Given the description of an element on the screen output the (x, y) to click on. 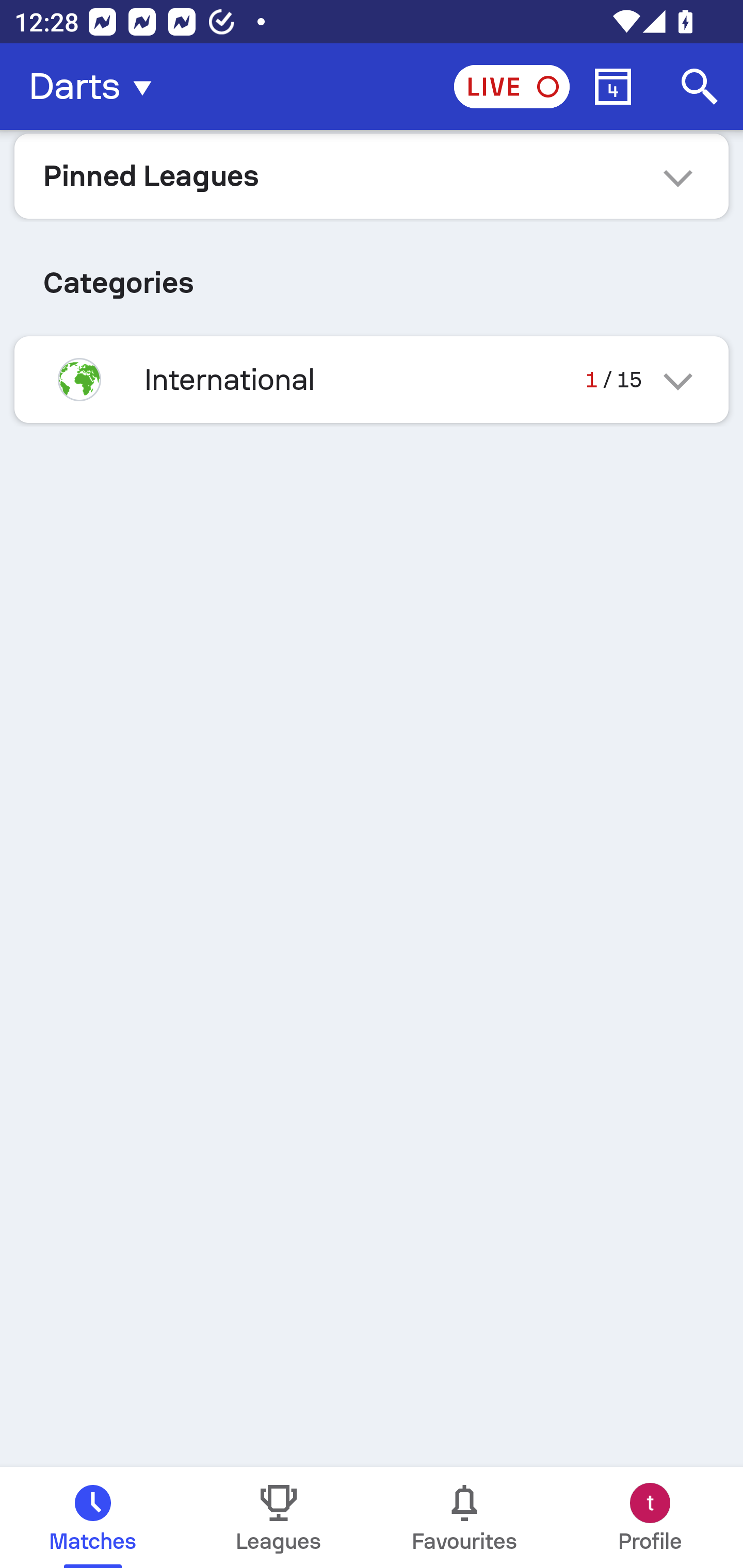
Darts (96, 86)
Calendar (612, 86)
Search (699, 86)
Pinned Leagues (371, 175)
Categories (371, 275)
International 1 / 15 (371, 379)
Leagues (278, 1517)
Favourites (464, 1517)
Profile (650, 1517)
